Given the description of an element on the screen output the (x, y) to click on. 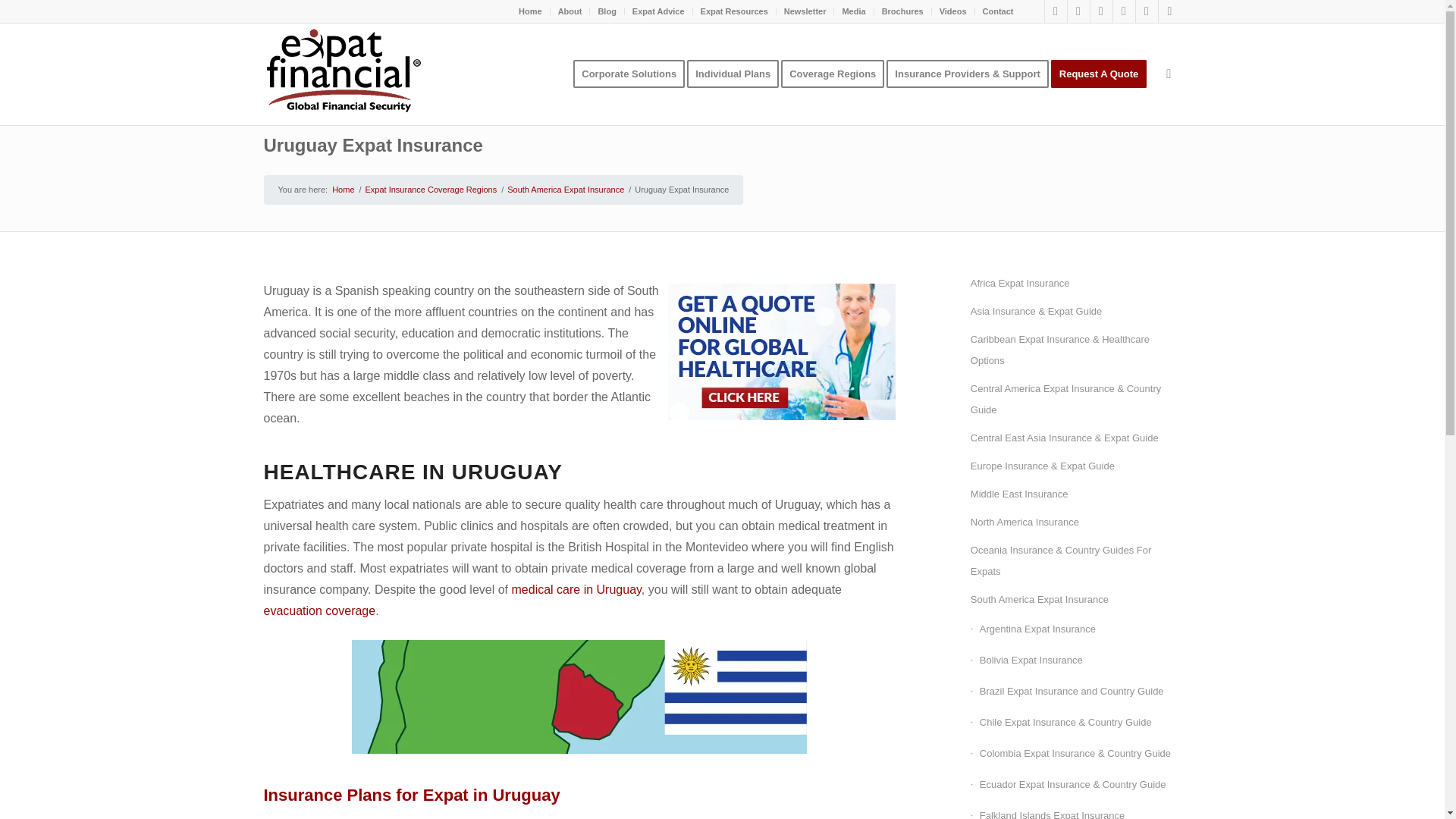
Expat Financial - Global Insurance for Expats (343, 189)
South America Expat Insurance (565, 189)
LinkedIn (1101, 11)
Mail (1169, 11)
Newsletter (805, 11)
Coverage Regions (836, 74)
Brochures (902, 11)
Videos (952, 11)
Evacuation Insurance Plans (319, 610)
logo (343, 74)
